Given the description of an element on the screen output the (x, y) to click on. 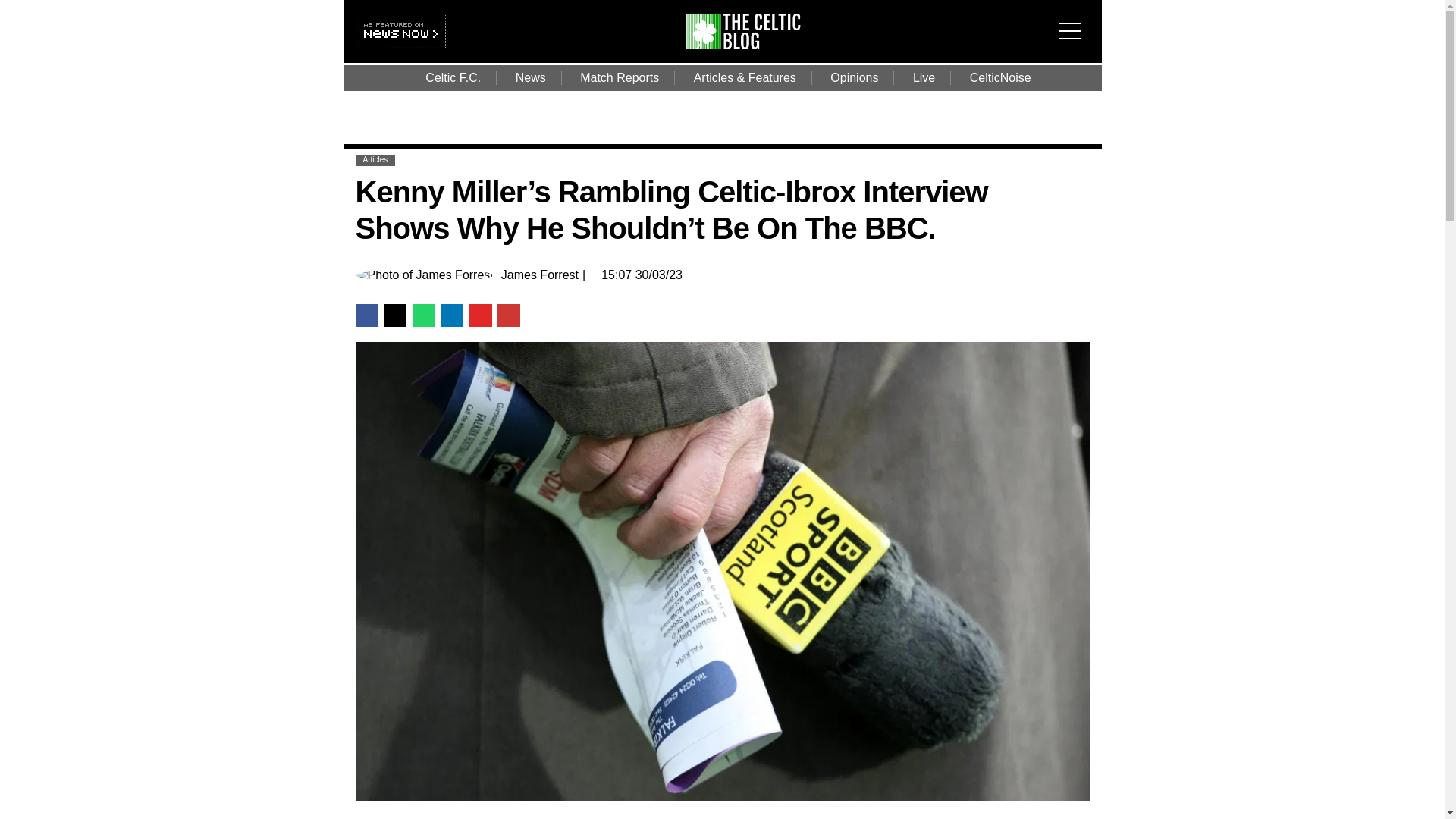
Live (924, 78)
share on Flipboard (480, 314)
share on WhatsApp (423, 314)
Menu (1074, 21)
share on Twitter (395, 314)
Celtic F.C. (453, 78)
Articles (374, 159)
Back to the homepage (751, 44)
CelticNoise (1000, 78)
share on LinkedIn (452, 314)
James Forrest (539, 274)
News (530, 78)
share on Email (508, 314)
Match Reports (619, 78)
share on Facebook (366, 314)
